Given the description of an element on the screen output the (x, y) to click on. 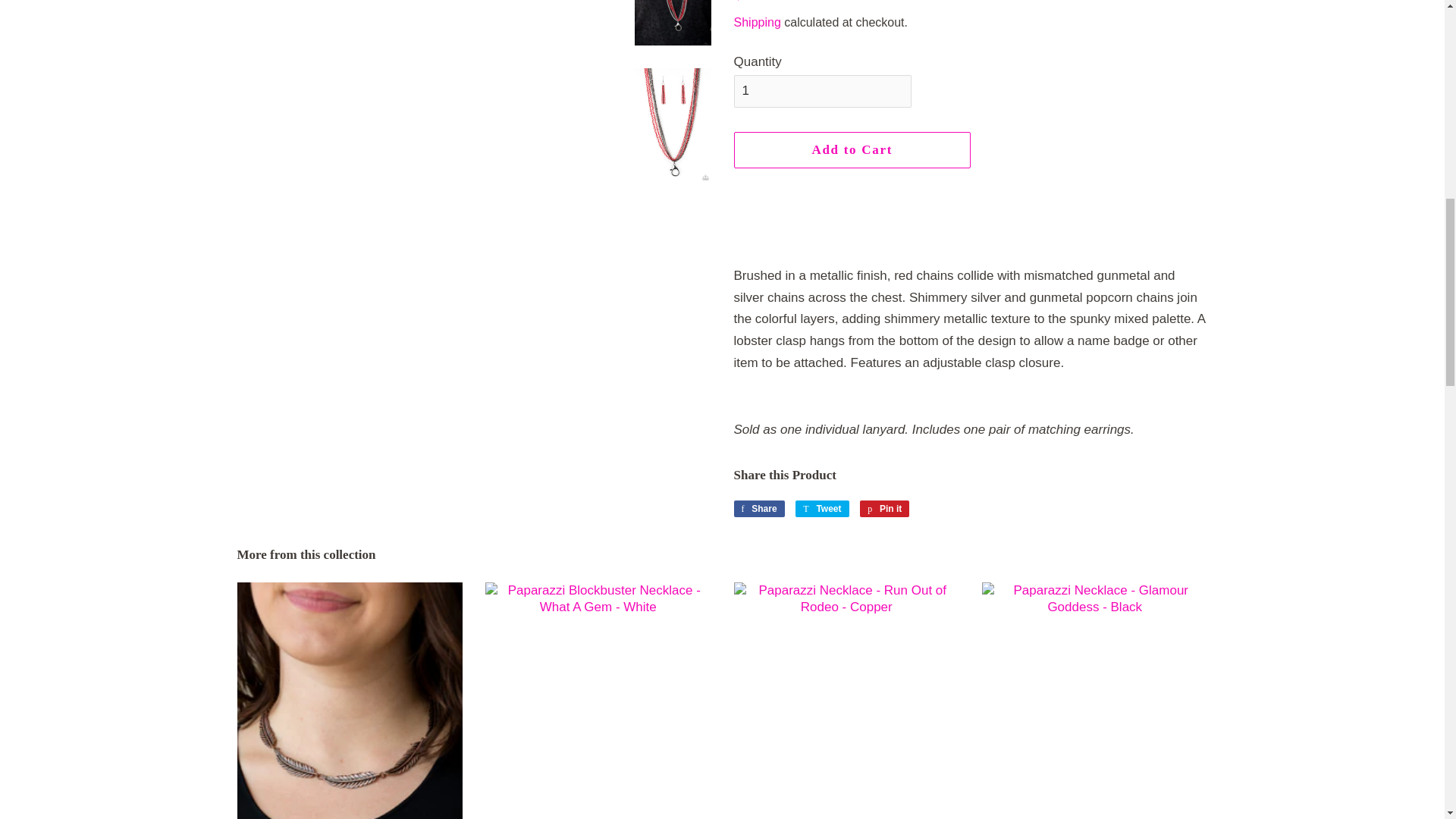
Pin on Pinterest (884, 508)
Share on Facebook (758, 508)
1 (822, 91)
Tweet on Twitter (821, 508)
